Given the description of an element on the screen output the (x, y) to click on. 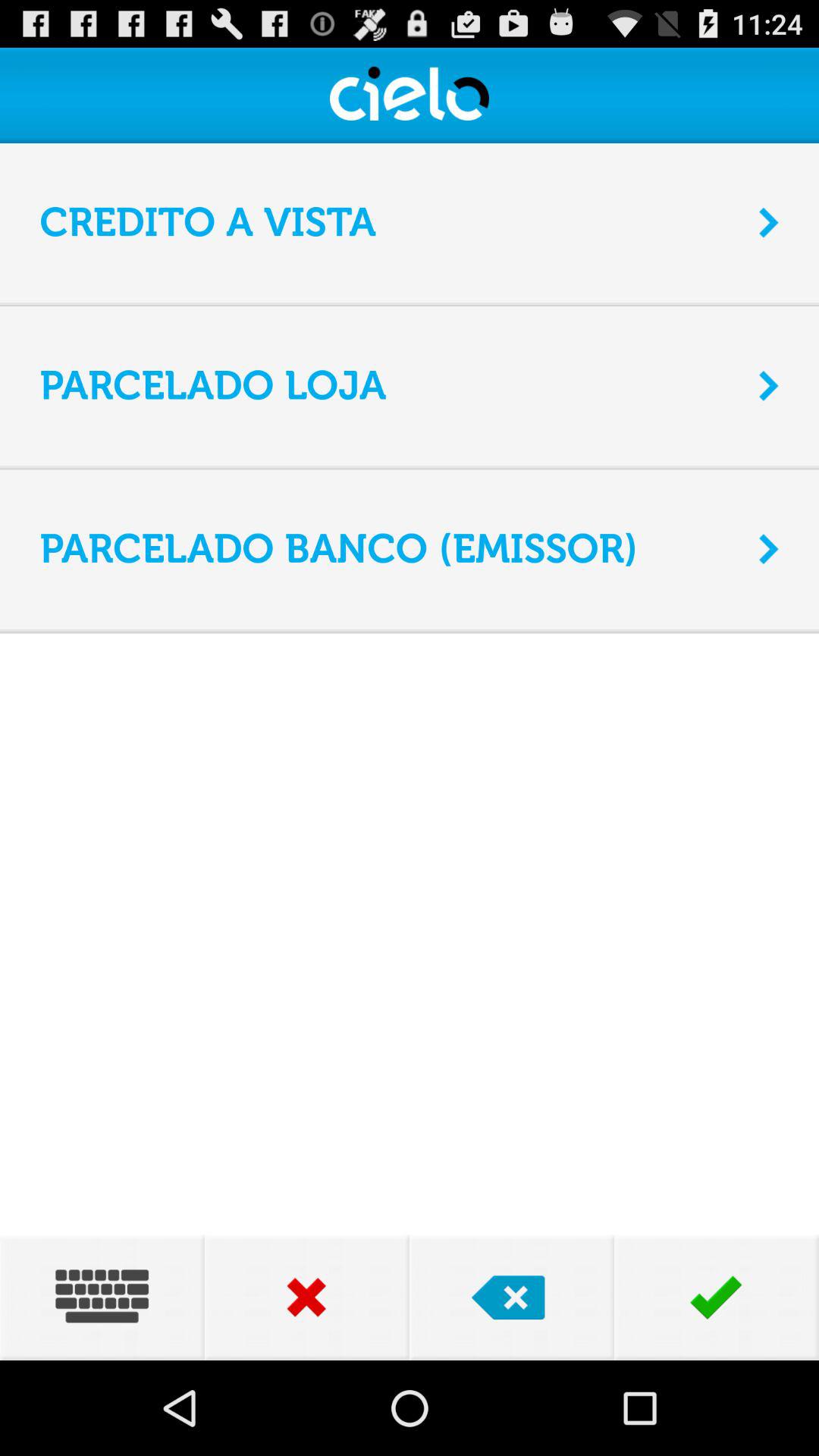
turn on the app to the right of parcelado loja icon (769, 385)
